Given the description of an element on the screen output the (x, y) to click on. 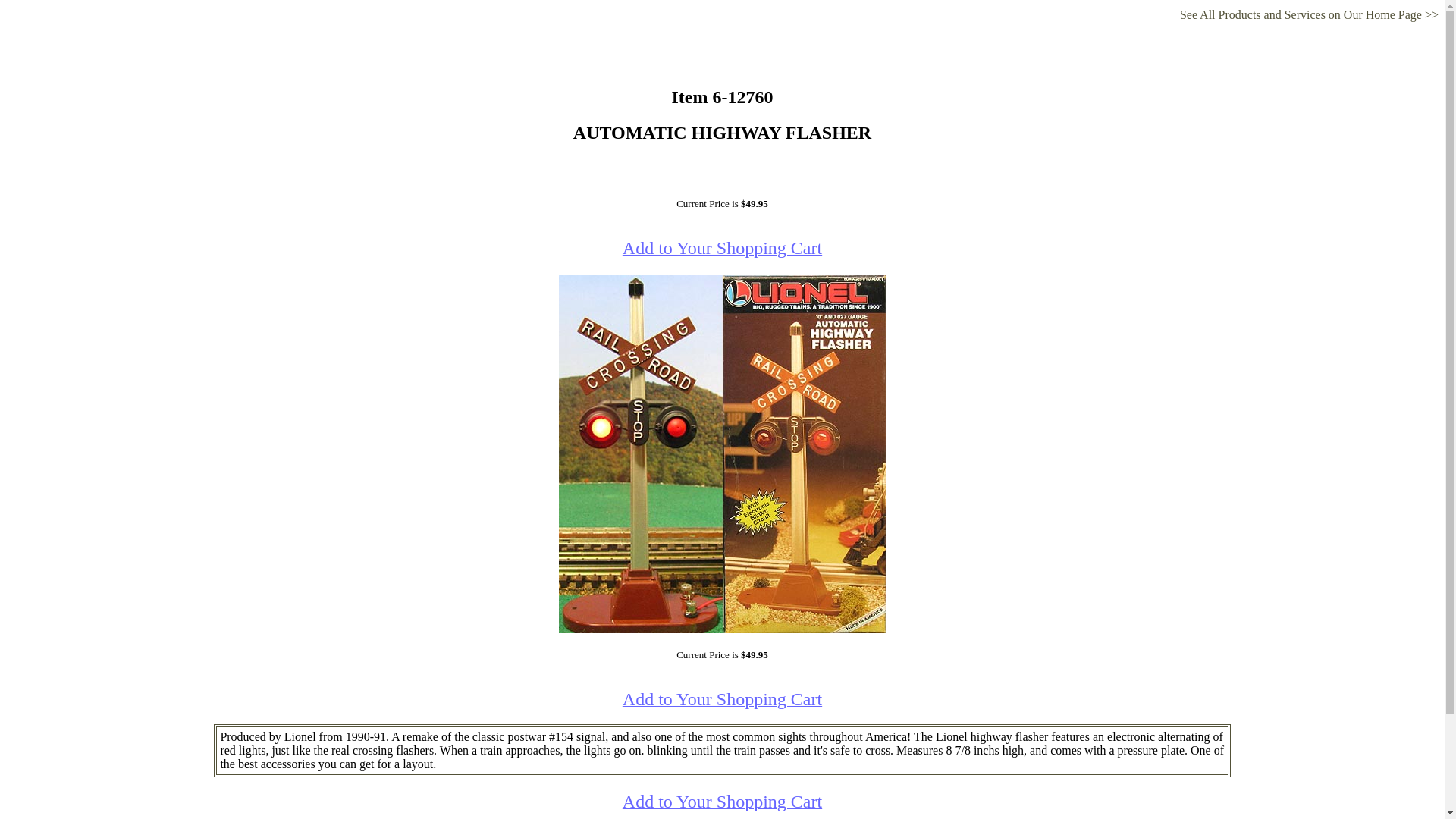
Add to Your Shopping Cart (722, 249)
Add to Your Shopping Cart (722, 700)
Add to Your Shopping Cart (722, 802)
